Given the description of an element on the screen output the (x, y) to click on. 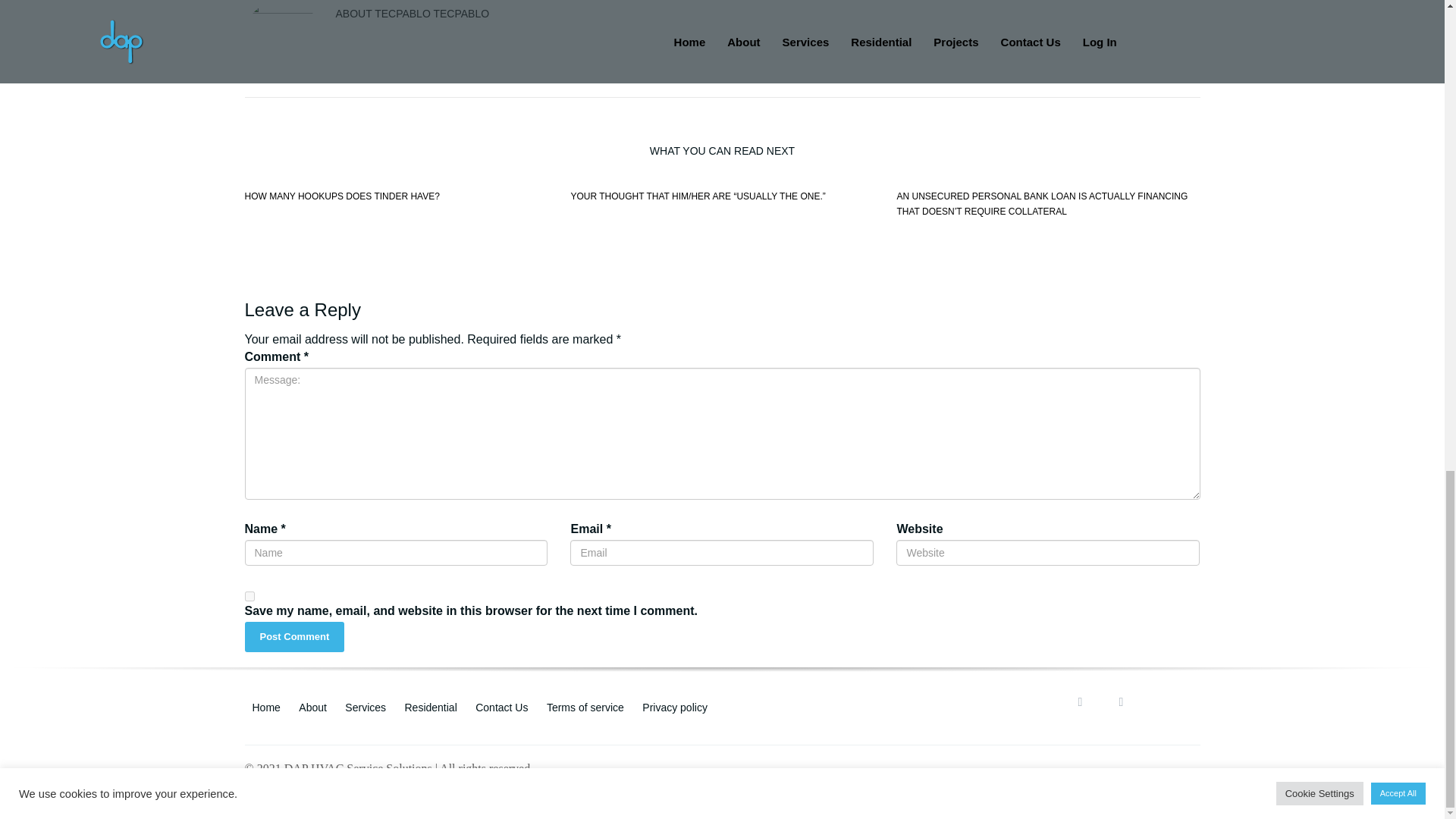
Privacy policy (674, 707)
HOW MANY HOOKUPS DOES TINDER HAVE? (341, 195)
Post Comment (293, 636)
Contact Us (501, 707)
Home (265, 707)
Residential (430, 707)
yes (248, 596)
About (312, 707)
Services (365, 707)
